Given the description of an element on the screen output the (x, y) to click on. 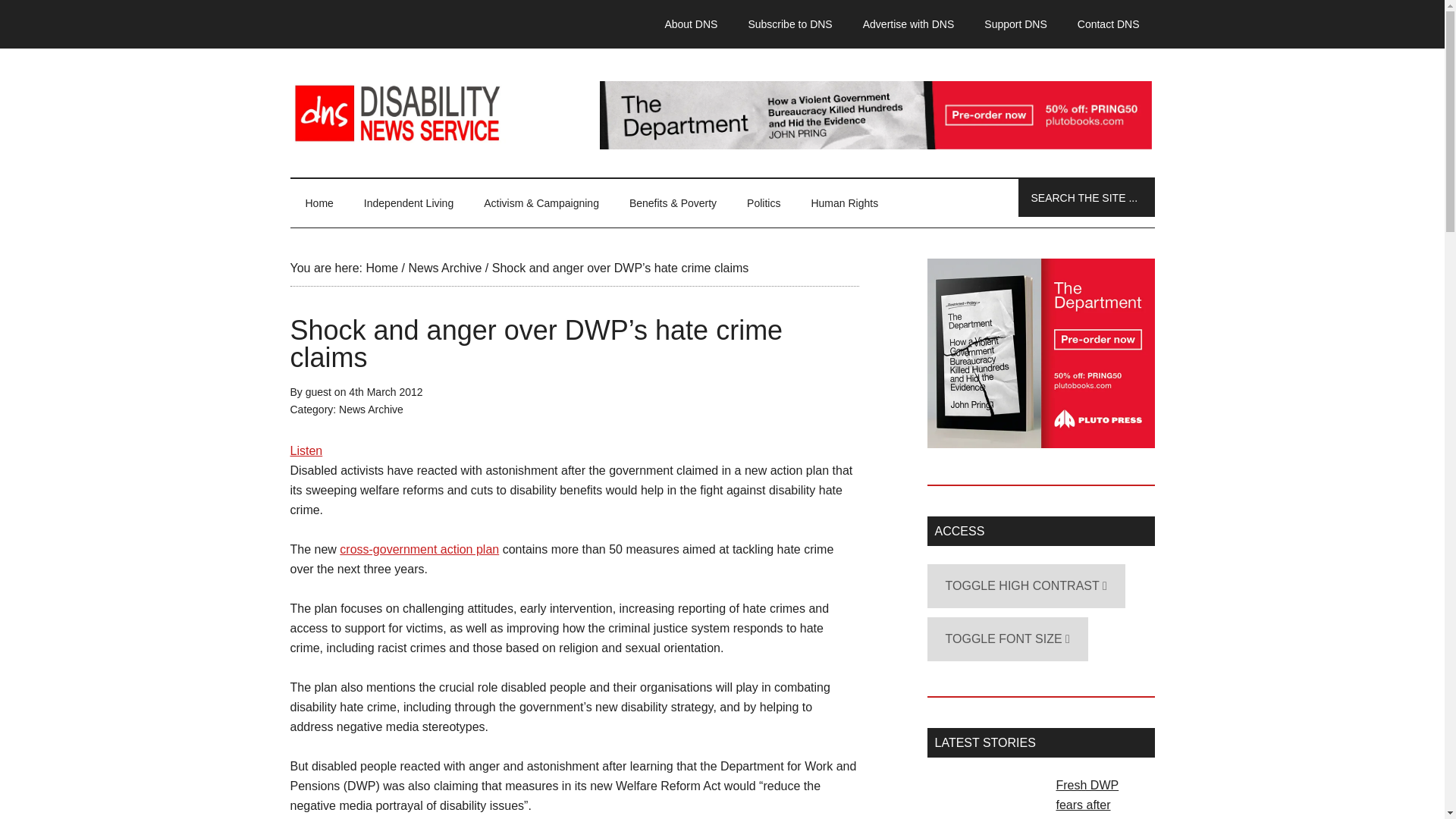
News Archive (371, 409)
Home (318, 203)
About DNS (690, 24)
Advertise with DNS (908, 24)
Subscribe to DNS (789, 24)
Listen (305, 450)
Politics (763, 203)
Contact DNS (1108, 24)
Human Rights (843, 203)
News Archive (444, 267)
Home (381, 267)
cross-government action plan (419, 549)
Support DNS (1015, 24)
